Given the description of an element on the screen output the (x, y) to click on. 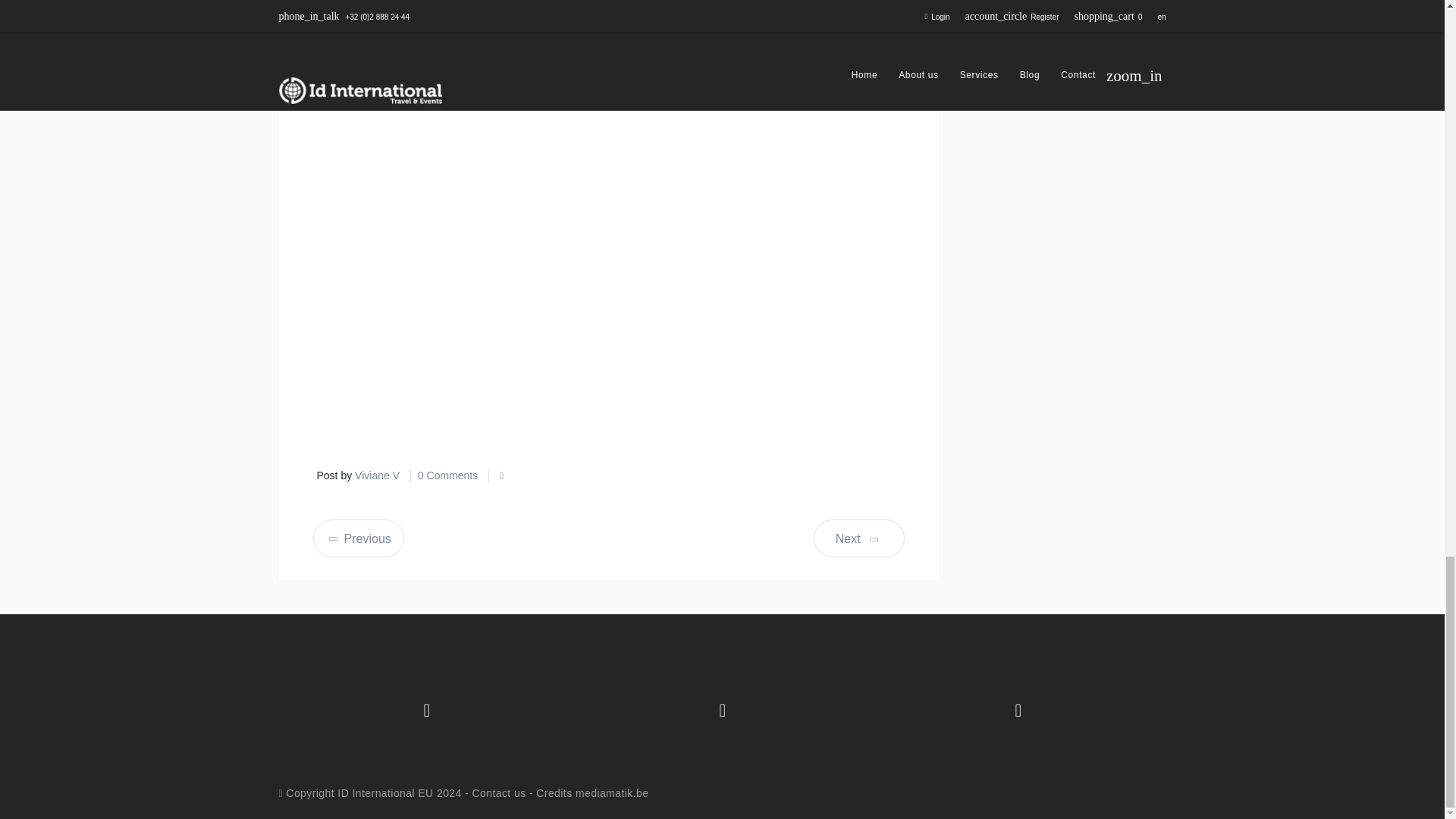
Viviane V (376, 475)
  Previous (358, 538)
0 Comments (447, 475)
